Given the description of an element on the screen output the (x, y) to click on. 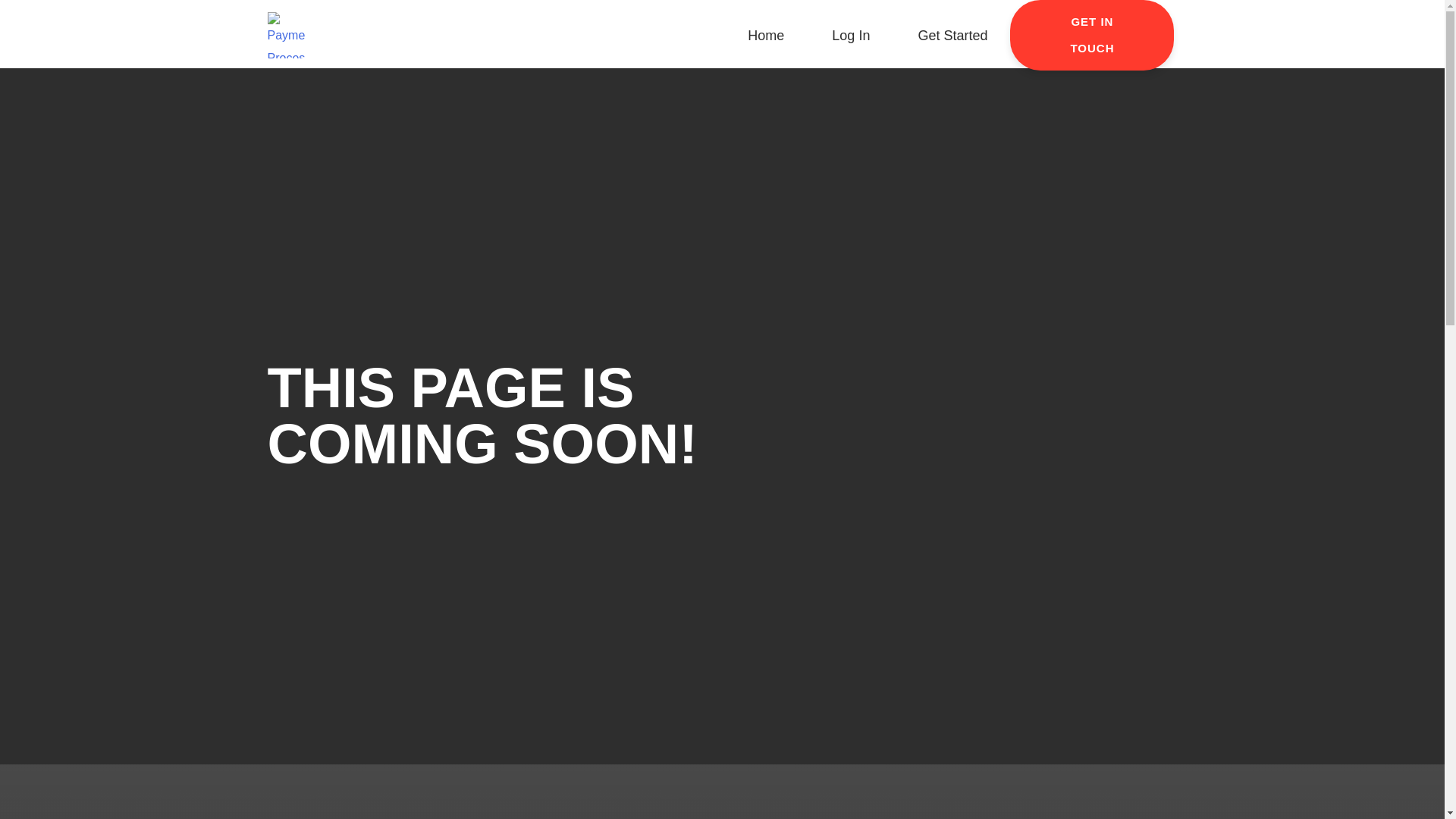
Log In (850, 35)
GET IN TOUCH (1091, 35)
Get Started (952, 35)
Home (765, 35)
